Given the description of an element on the screen output the (x, y) to click on. 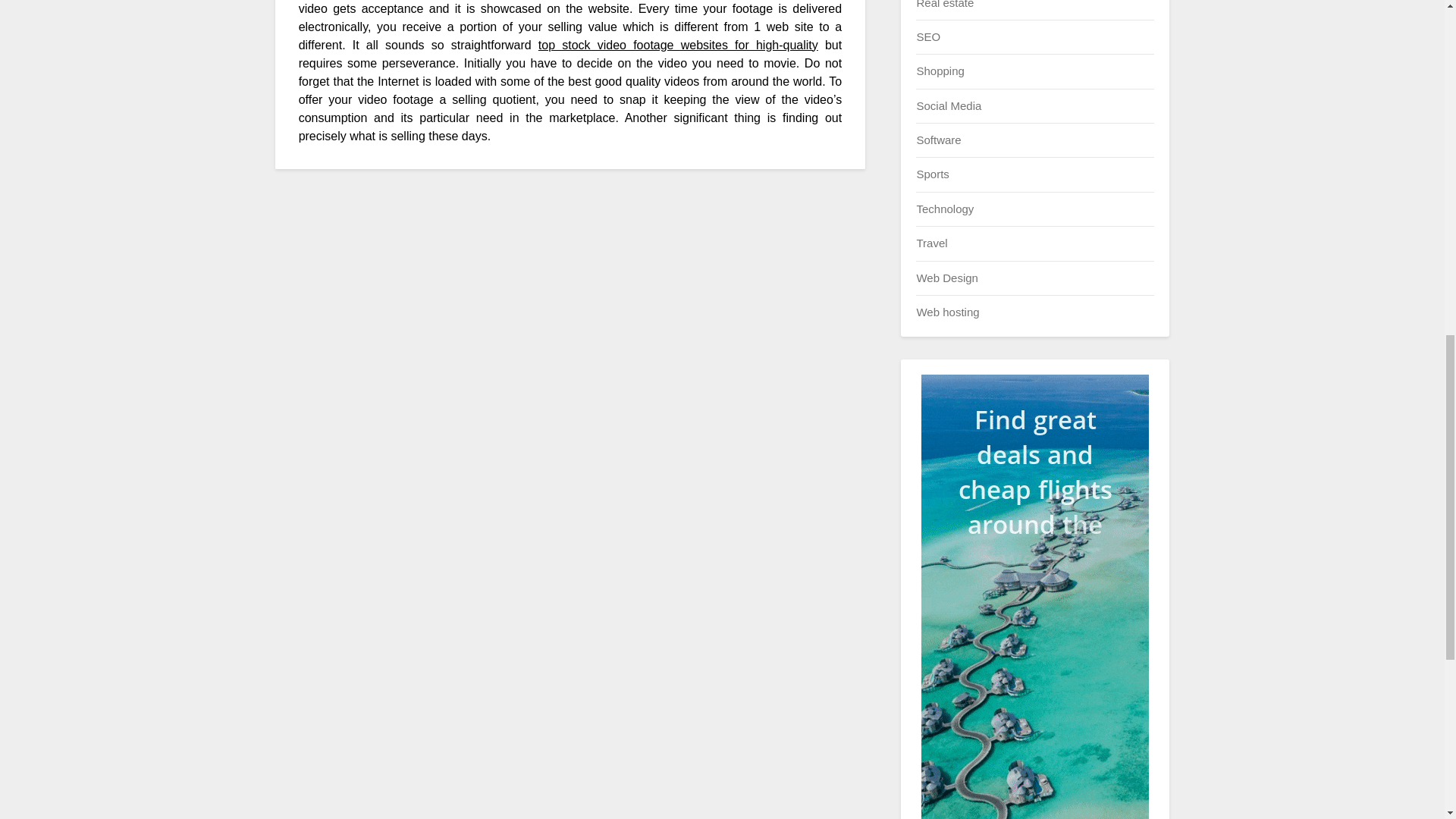
Software (937, 139)
top stock video footage websites for high-quality (678, 44)
Real estate (944, 4)
Shopping (939, 70)
Travel (931, 242)
Sports (932, 173)
Social Media (948, 105)
Technology (944, 208)
SEO (927, 36)
